Given the description of an element on the screen output the (x, y) to click on. 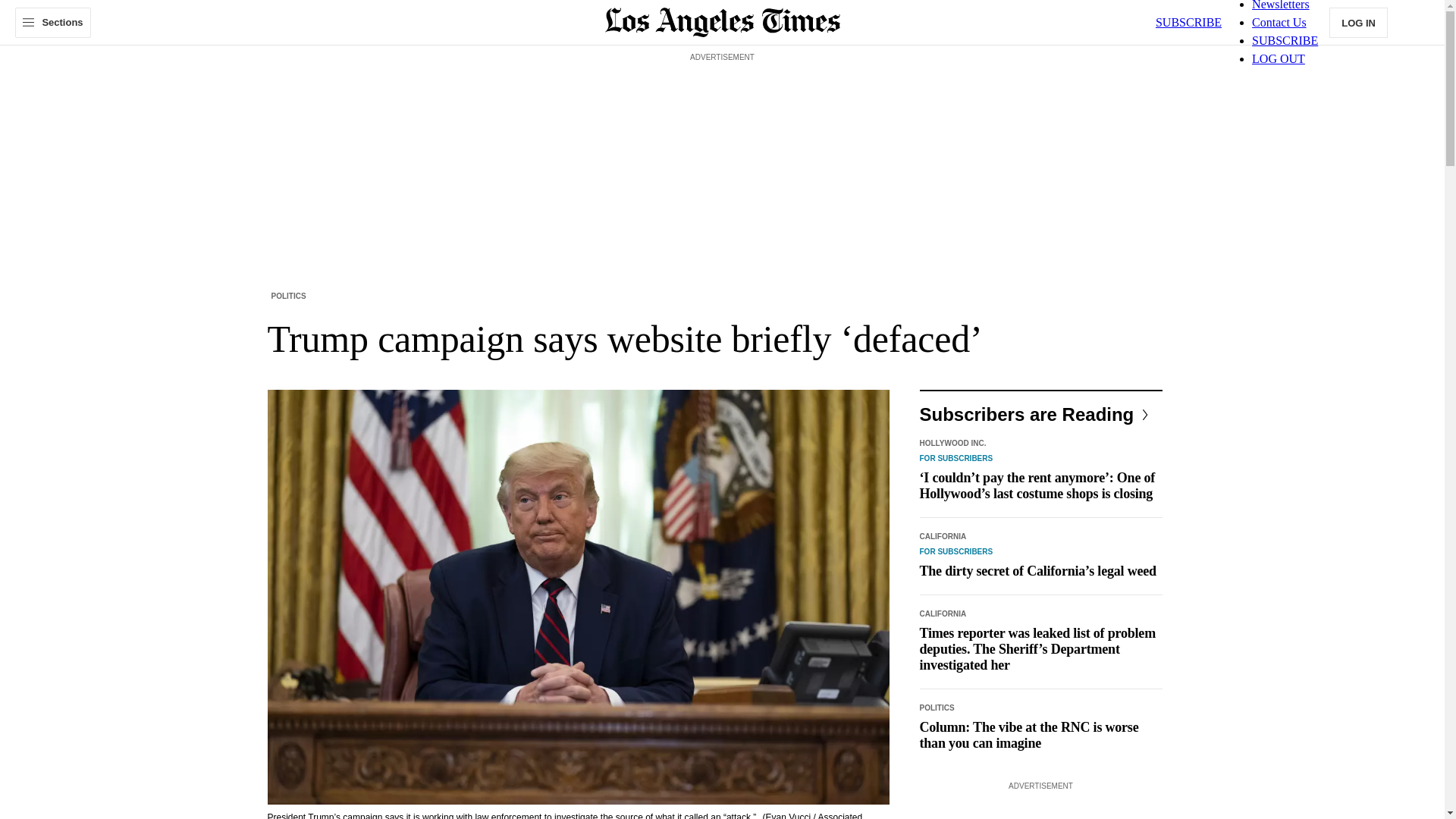
3rd party ad content (1040, 806)
